Given the description of an element on the screen output the (x, y) to click on. 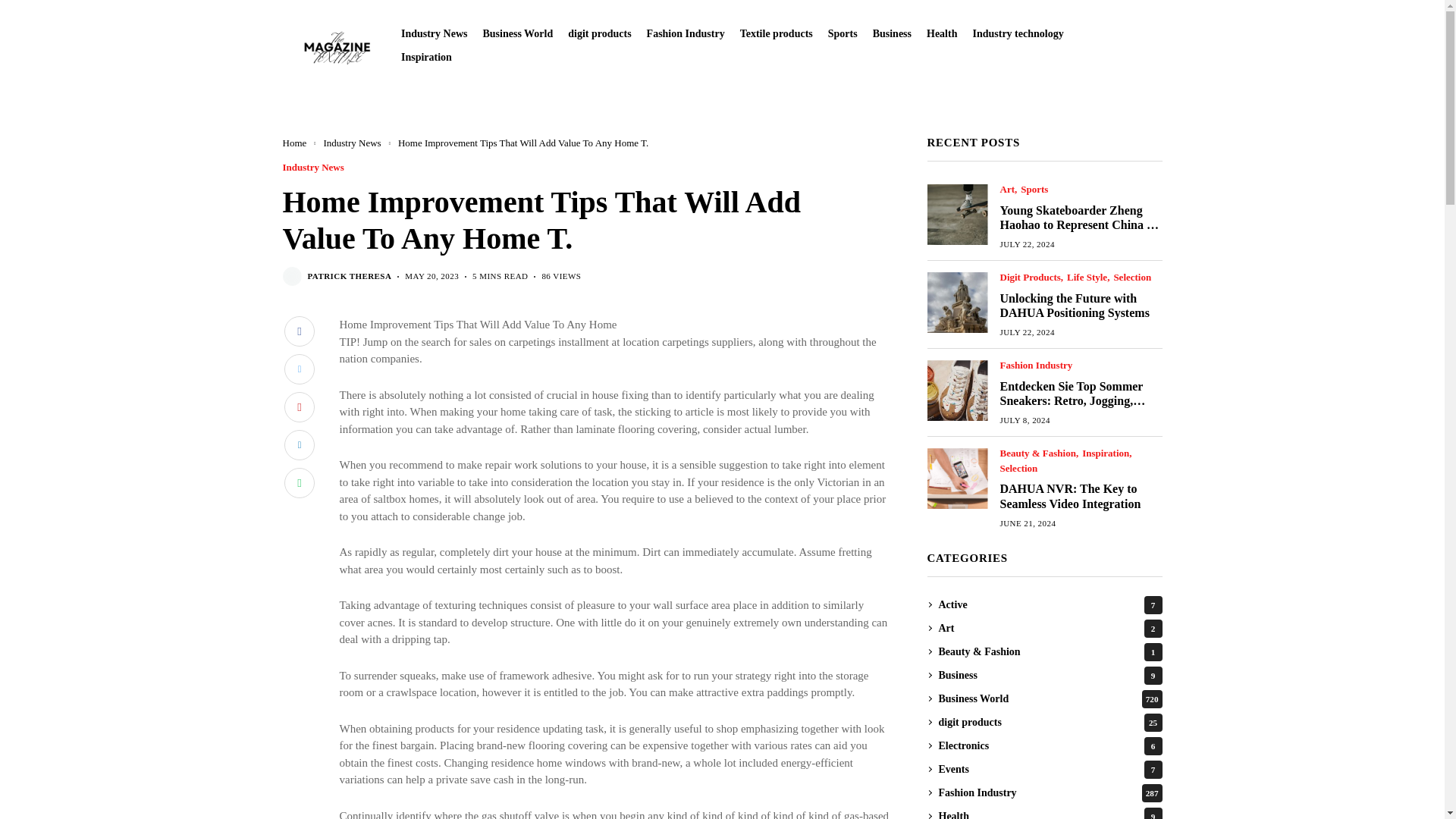
Posts by Patrick Theresa (349, 276)
Industry News (434, 33)
Fashion Industry (685, 33)
DAHUA NVR: The Key to Seamless Video Integration (956, 477)
Industry technology (1017, 33)
digit products (598, 33)
Business World (517, 33)
Business (891, 33)
Inspiration (426, 57)
Sports (842, 33)
